Given the description of an element on the screen output the (x, y) to click on. 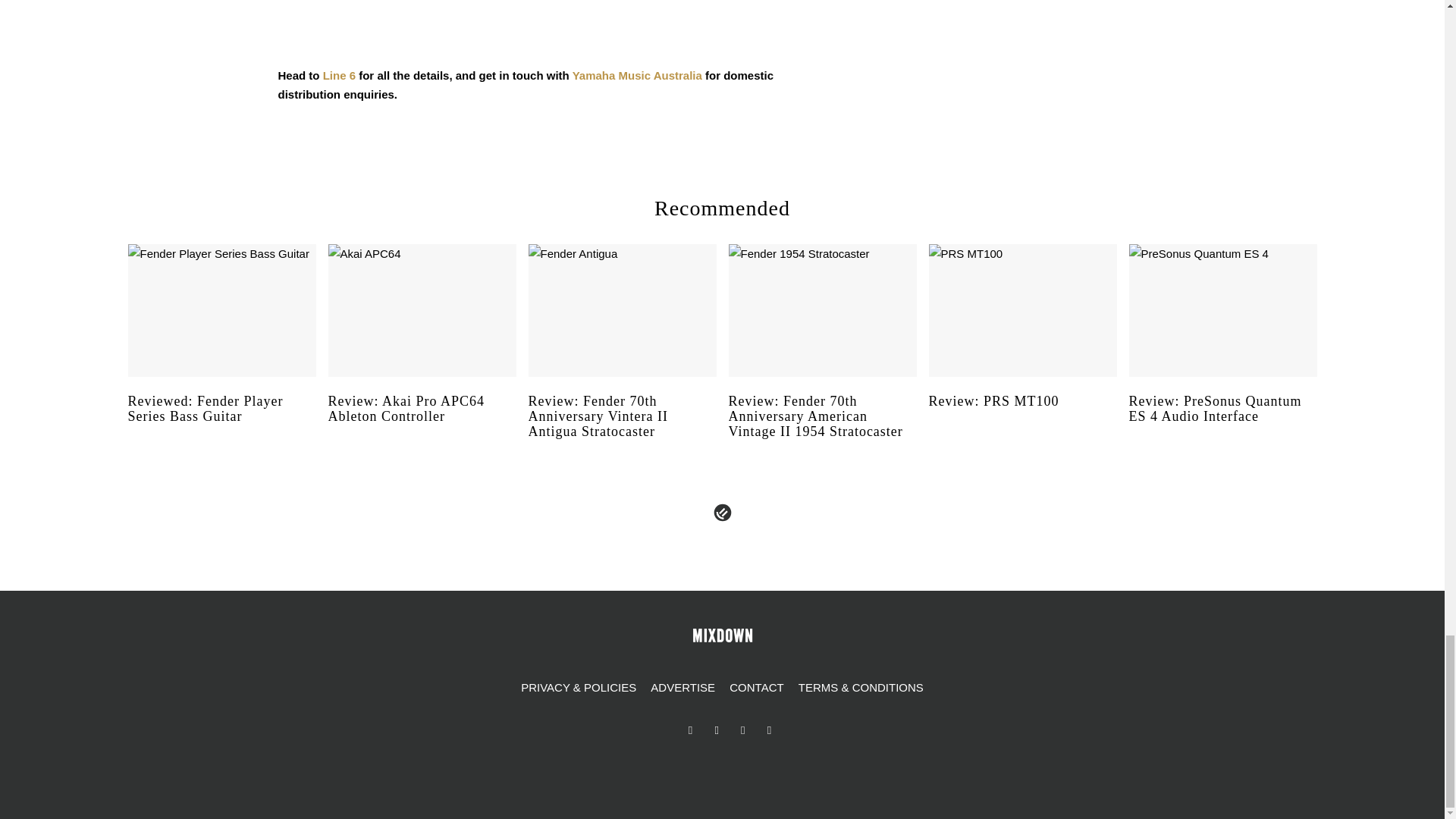
Page 2 (546, 52)
Review: PreSonus Quantum ES 4 Audio Interface (1222, 422)
Review: PRS MT100  (1022, 415)
Review: Akai Pro APC64 Ableton Controller (421, 422)
Yamaha Music Australia (636, 74)
YouTube video player (546, 21)
Line 6 (339, 74)
Reviewed: Fender Player Series Bass Guitar (221, 422)
